Given the description of an element on the screen output the (x, y) to click on. 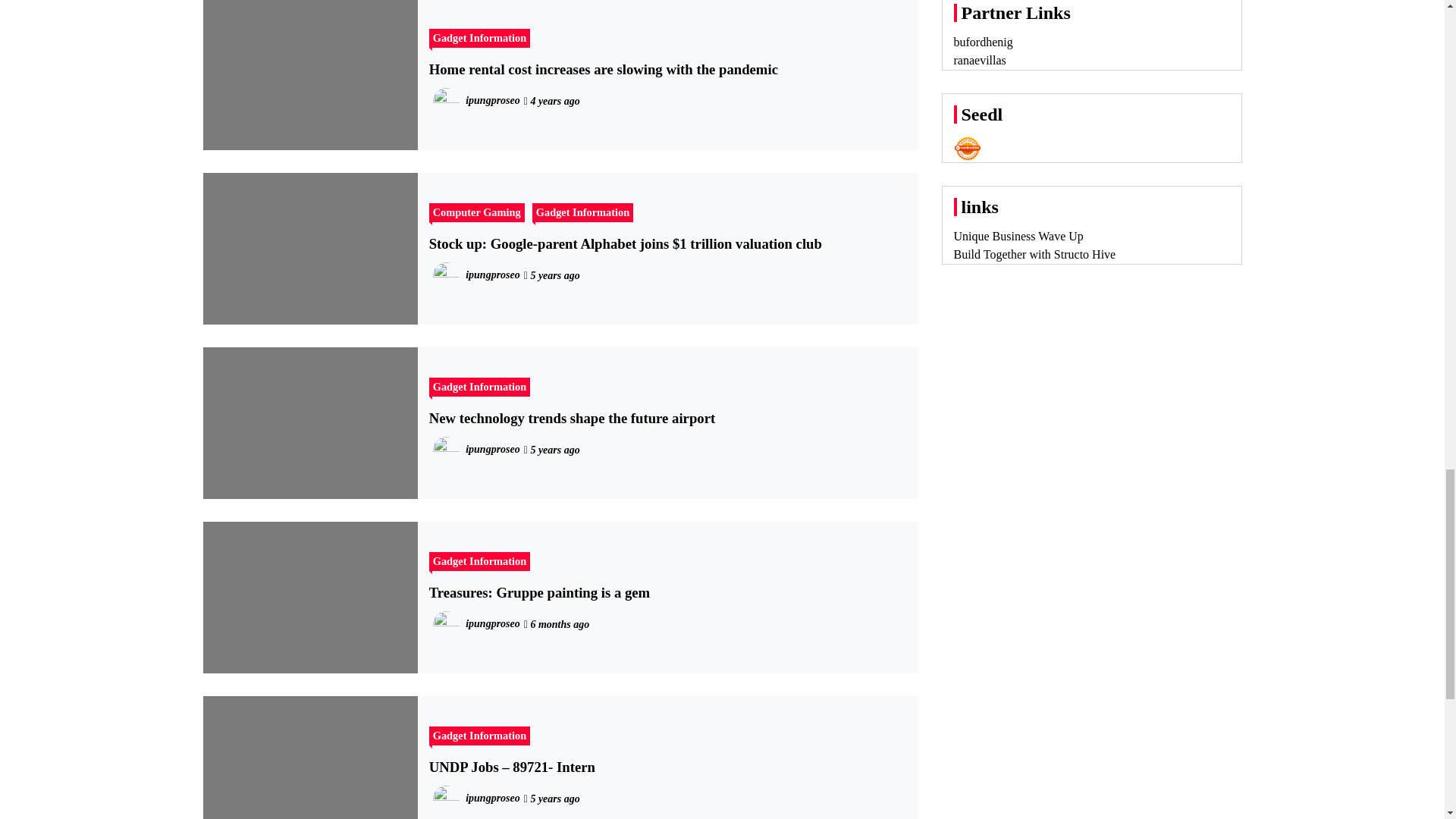
Seedbacklink (967, 148)
Judge Jack Weinstein Mourned as Champion of Justice (560, 18)
